Given the description of an element on the screen output the (x, y) to click on. 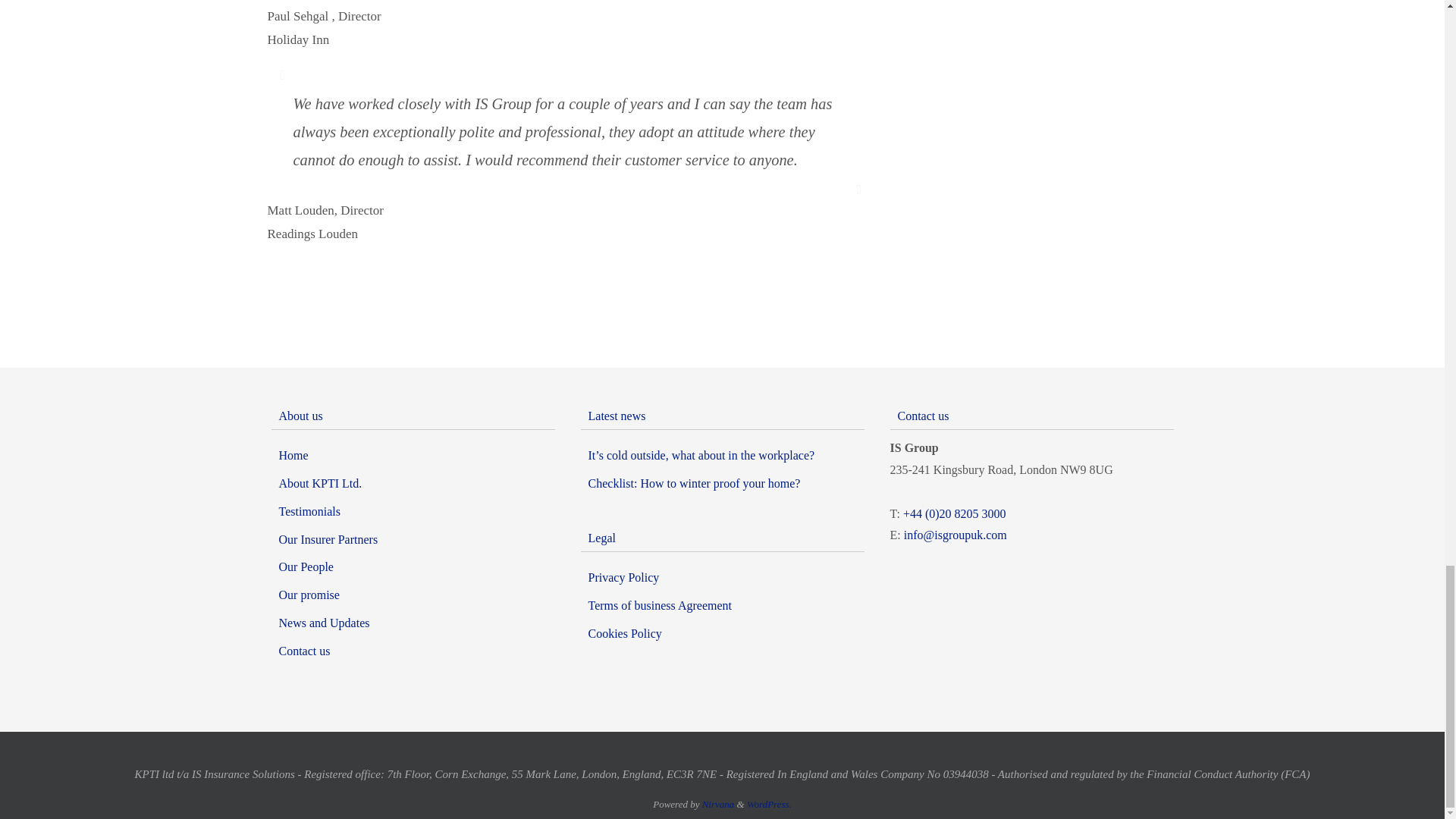
Nirvana Theme by Cryout Creations (718, 803)
Semantic Personal Publishing Platform (769, 803)
